Given the description of an element on the screen output the (x, y) to click on. 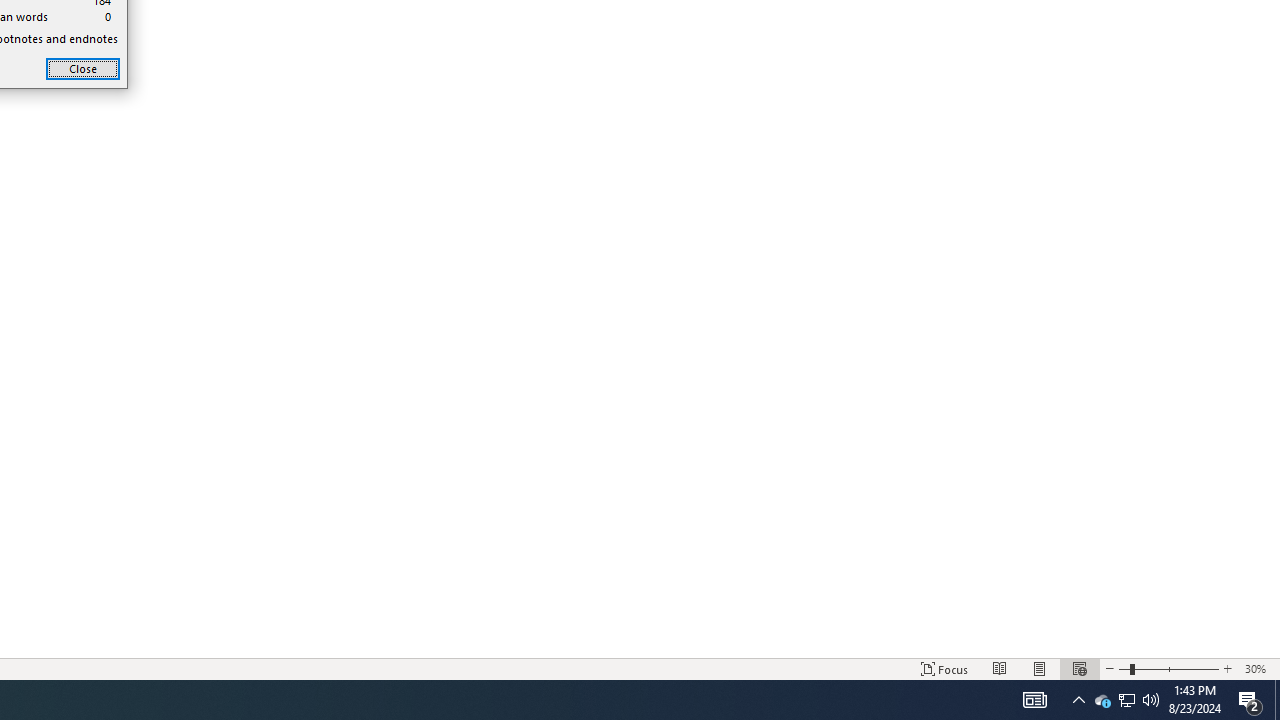
Notification Chevron (1102, 699)
Action Center, 2 new notifications (1078, 699)
